Given the description of an element on the screen output the (x, y) to click on. 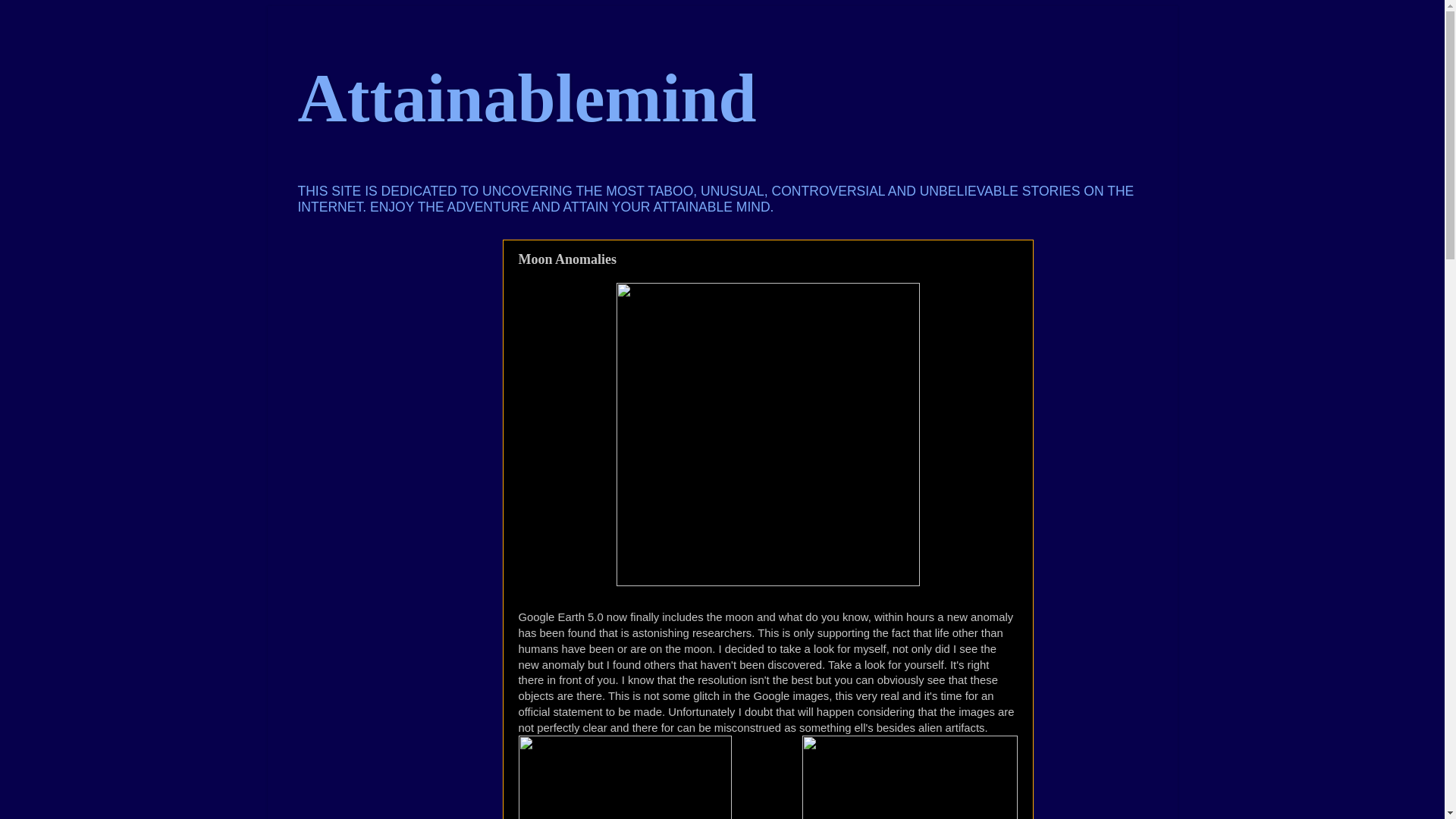
Attainablemind (526, 97)
